Given the description of an element on the screen output the (x, y) to click on. 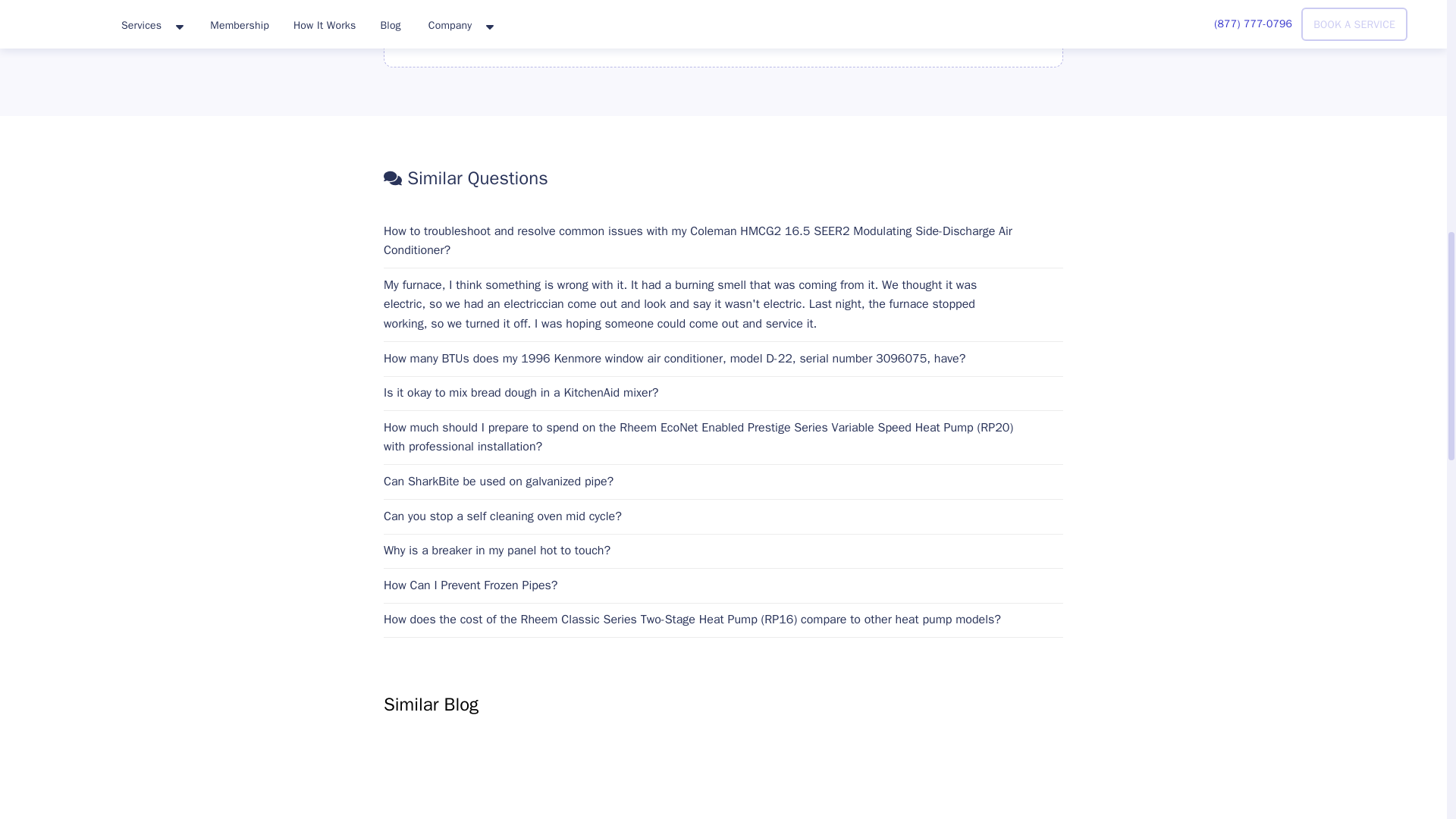
How Can I Prevent Frozen Pipes? (723, 586)
Blog (486, 783)
Connect Now (531, 18)
Why is a breaker in my panel hot to touch? (723, 551)
Blog (959, 783)
Can SharkBite be used on galvanized pipe? (723, 482)
